Given the description of an element on the screen output the (x, y) to click on. 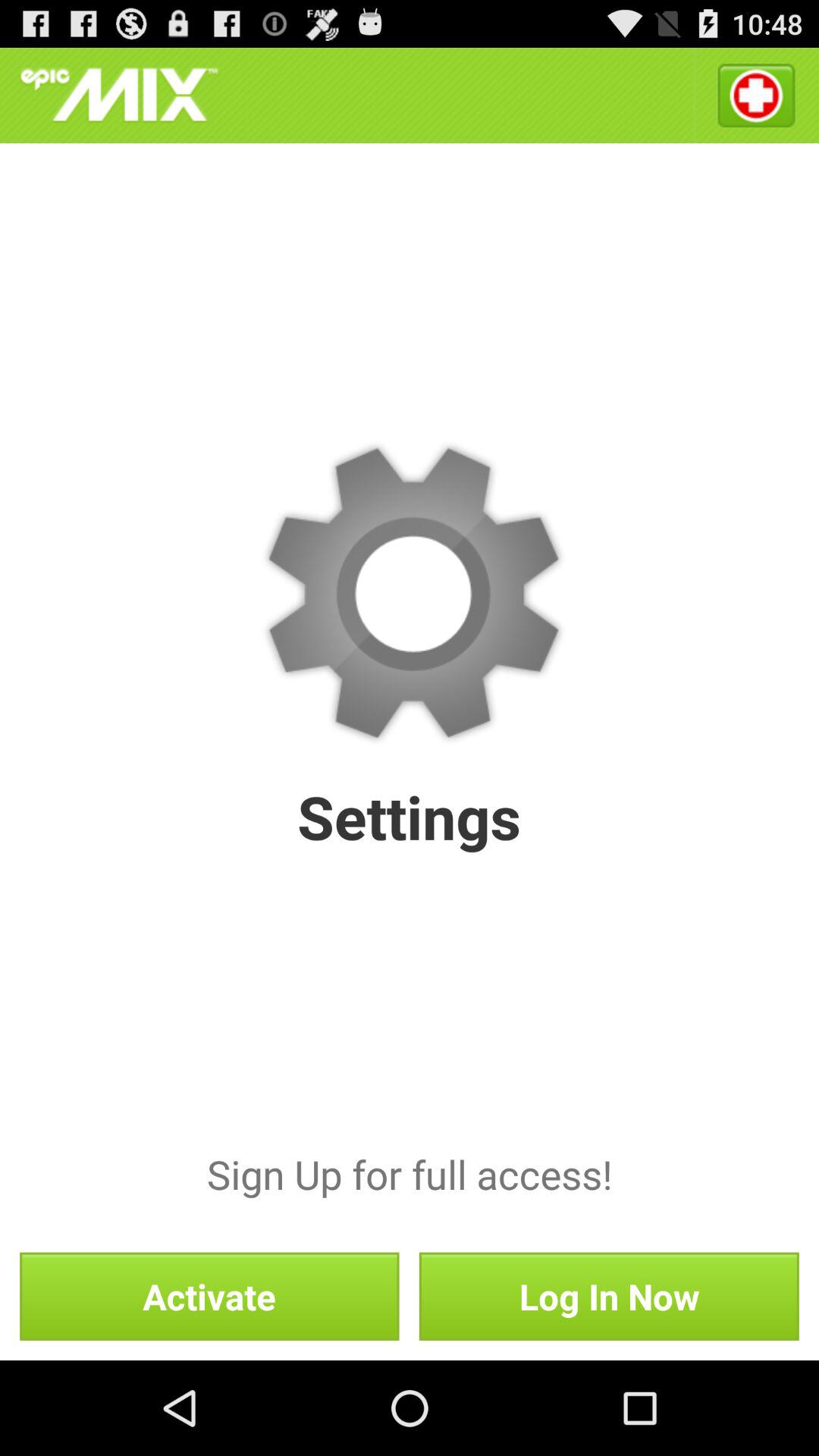
press button at the bottom left corner (209, 1296)
